Given the description of an element on the screen output the (x, y) to click on. 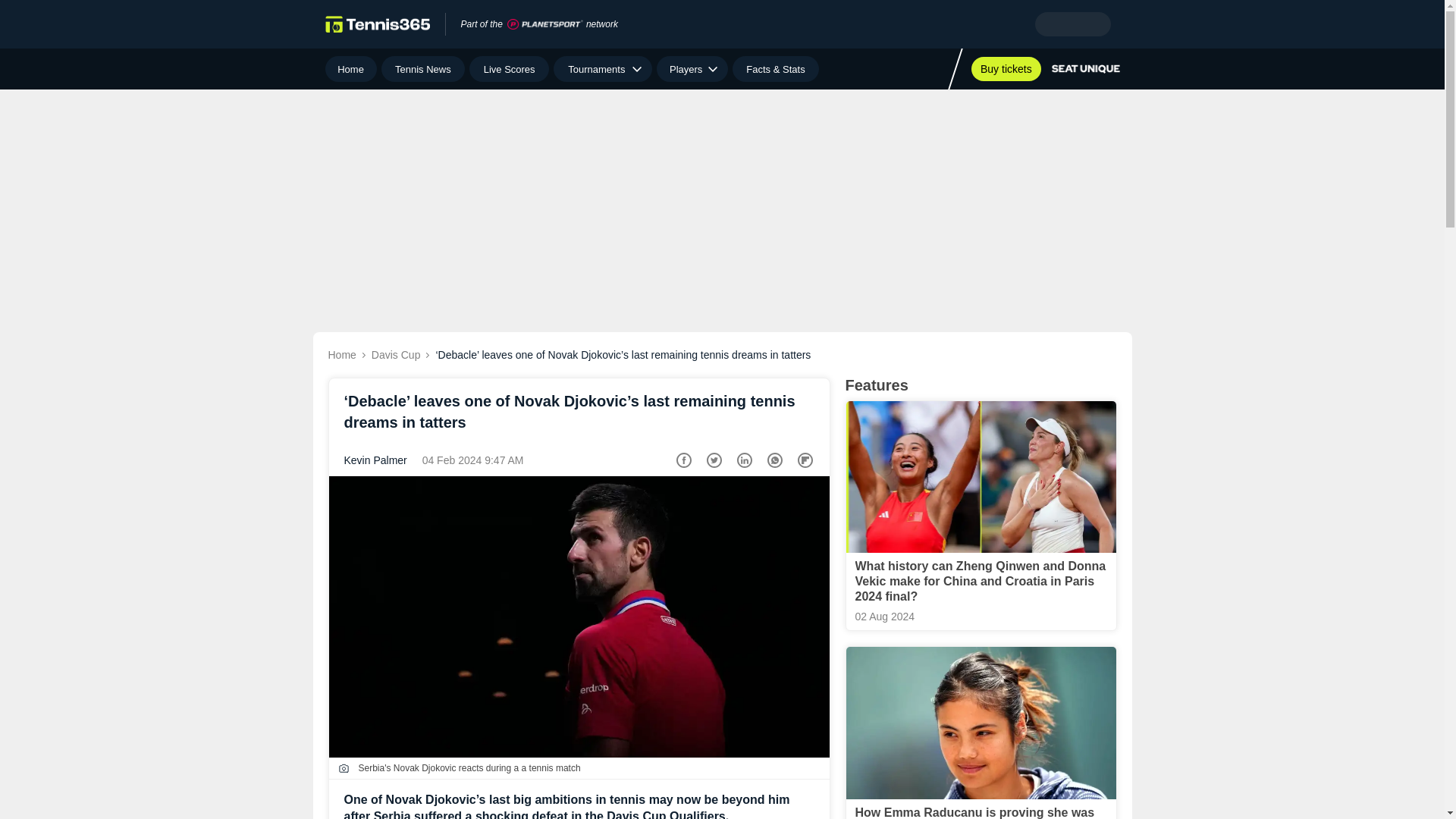
Players (692, 68)
Home (349, 68)
Buy tickets (1006, 68)
Tennis News (423, 68)
Tournaments (601, 68)
Live Scores (508, 68)
